Given the description of an element on the screen output the (x, y) to click on. 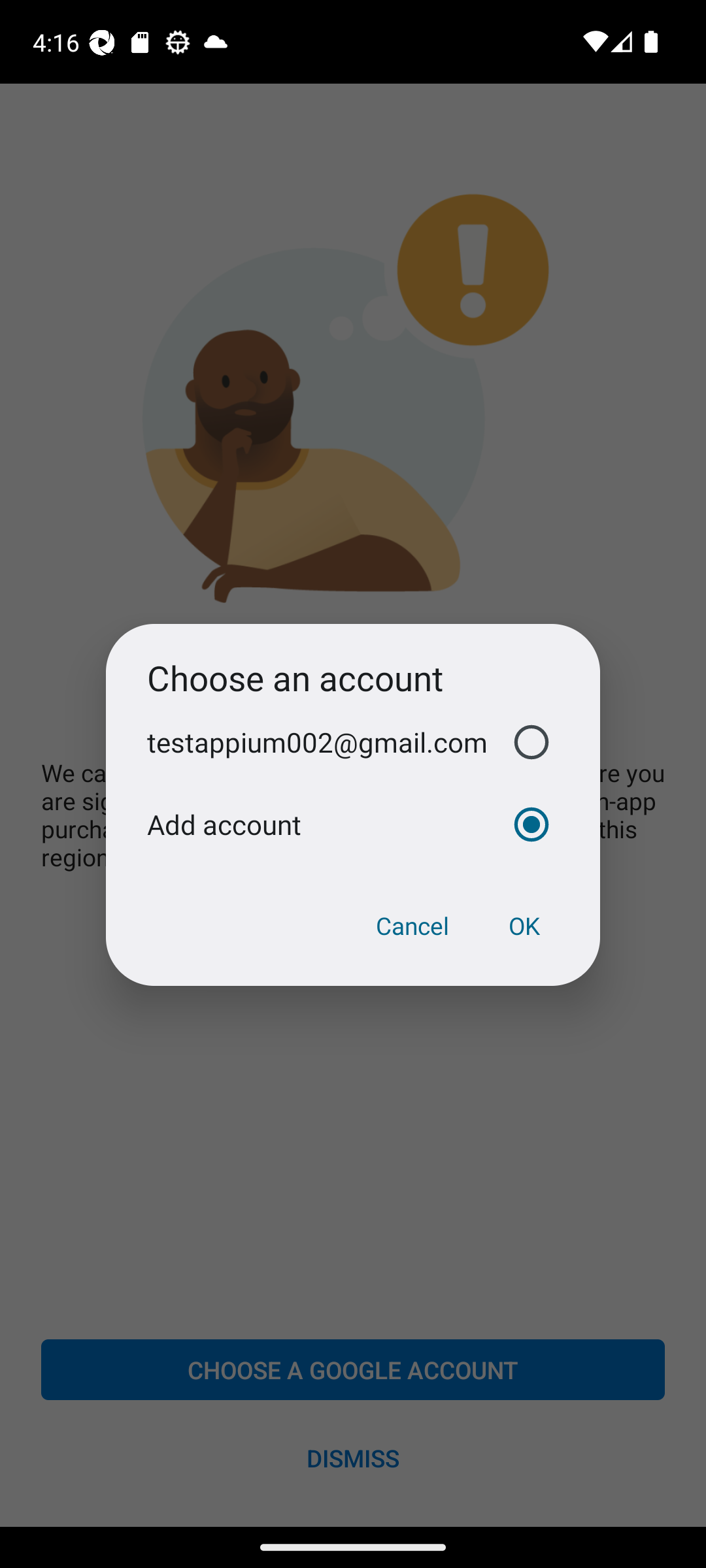
testappium002@gmail.com (352, 742)
Add account (352, 824)
Cancel (412, 925)
OK (523, 925)
